Given the description of an element on the screen output the (x, y) to click on. 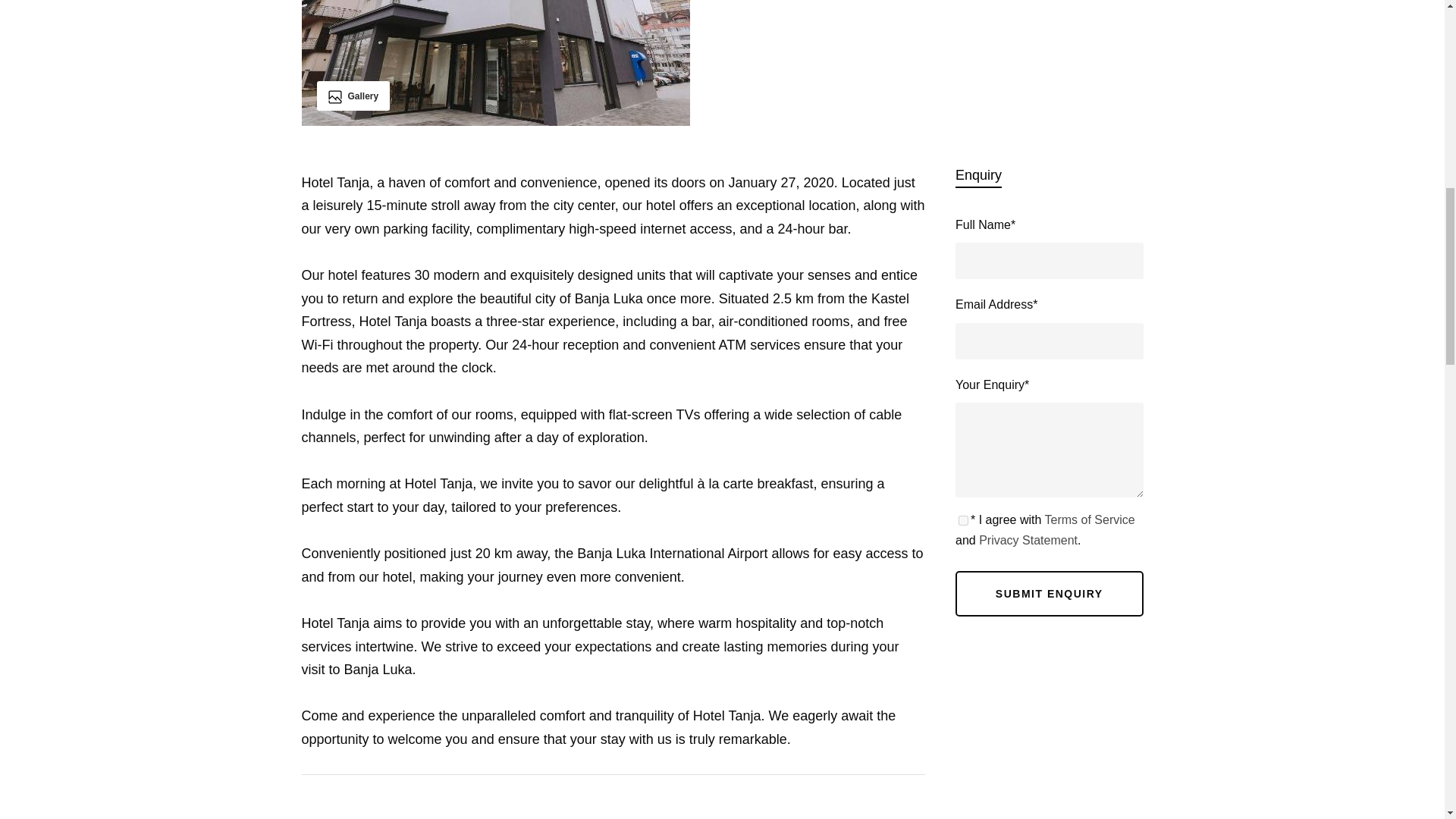
Submit Enquiry (1048, 593)
on (963, 520)
241298102 (495, 63)
